Given the description of an element on the screen output the (x, y) to click on. 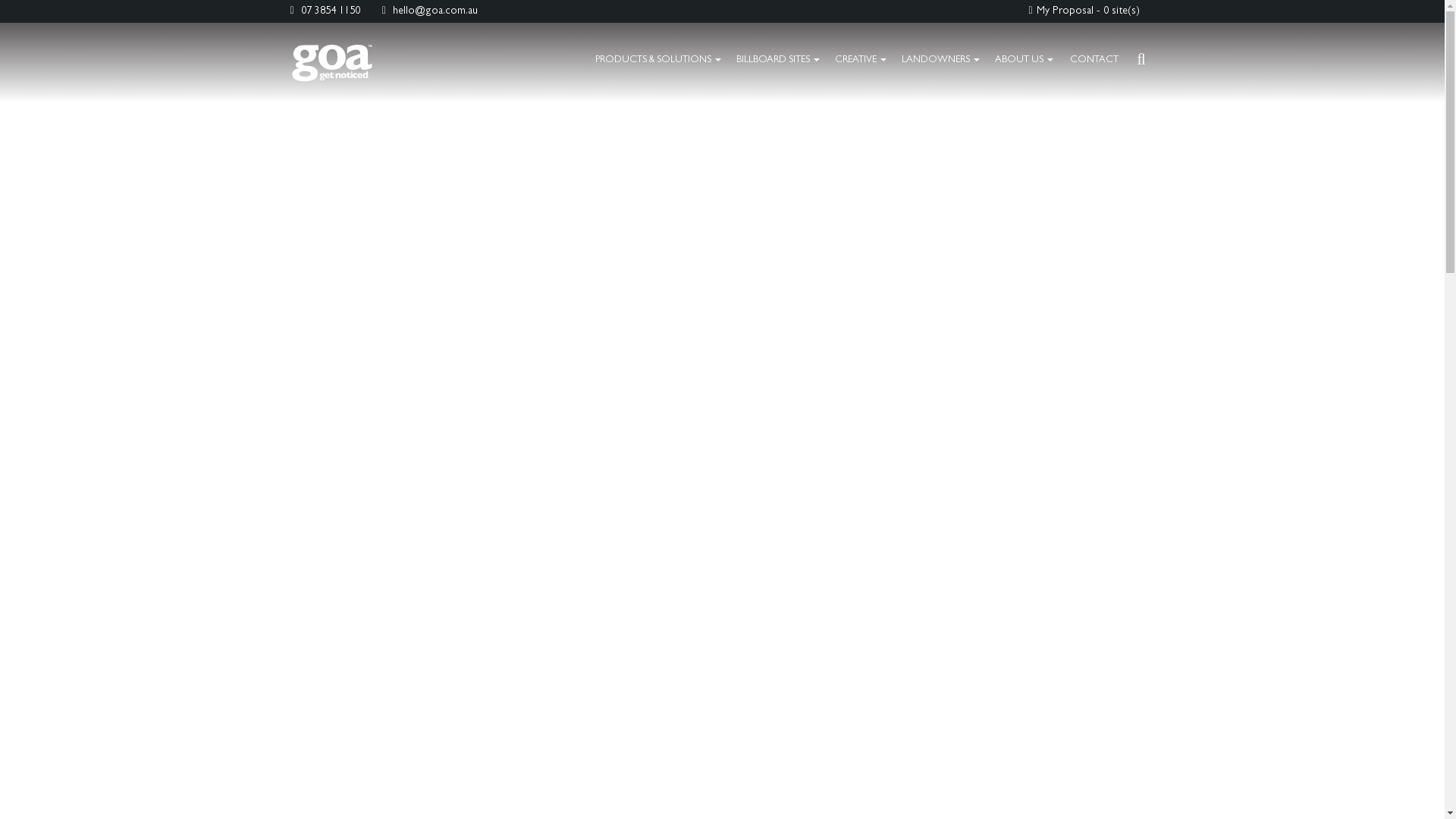
ABOUT US Element type: text (1023, 60)
CONTACT Element type: text (1093, 60)
CREATIVE Element type: text (860, 60)
My Proposal - 0 site(s) Element type: text (1083, 11)
hello@goa.com.au Element type: text (429, 11)
LANDOWNERS Element type: text (940, 60)
PRODUCTS & SOLUTIONS Element type: text (657, 60)
07 3854 1150 Element type: text (324, 11)
BILLBOARD SITES Element type: text (777, 60)
